Given the description of an element on the screen output the (x, y) to click on. 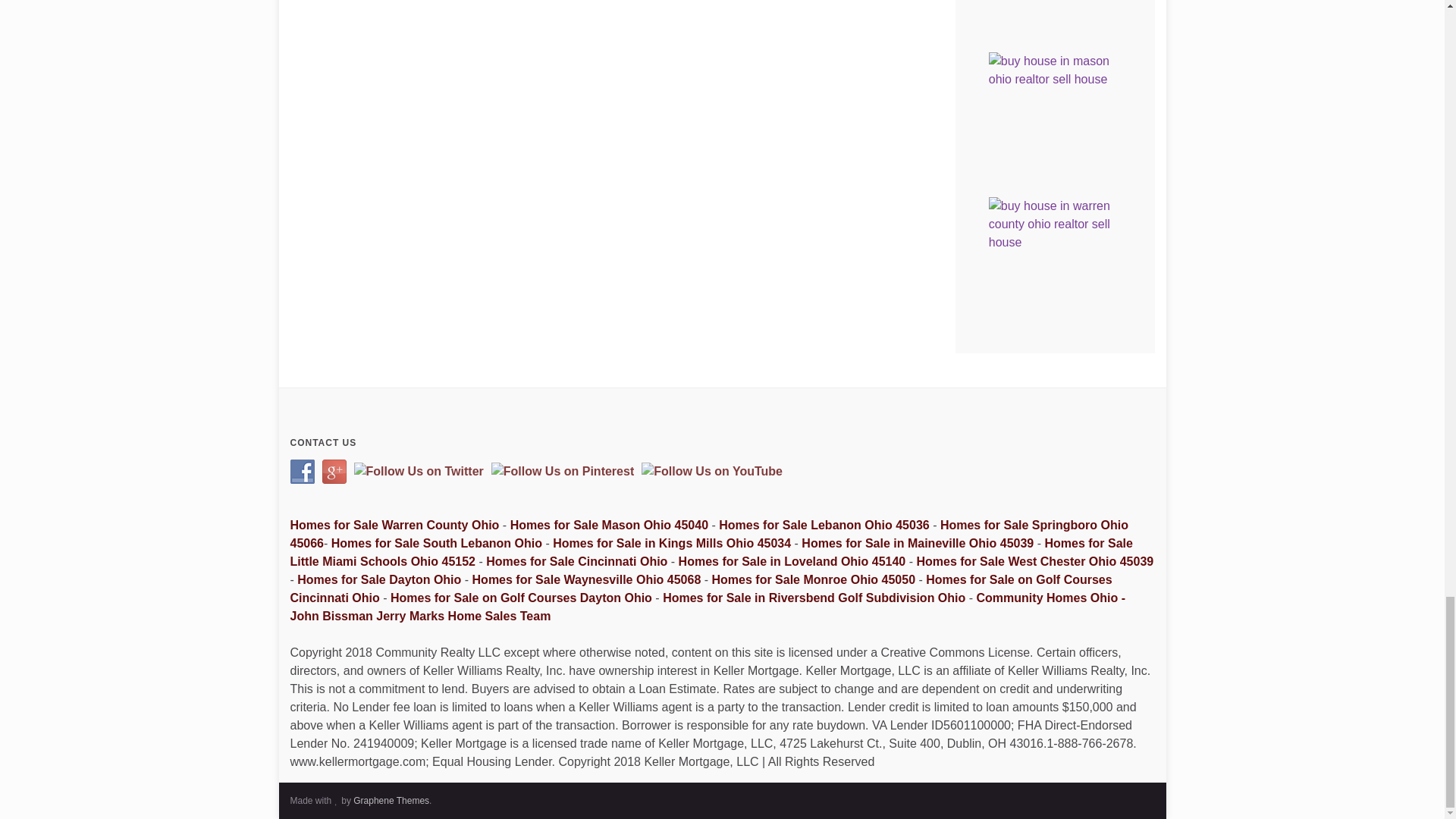
Follow Us on Pinterest (562, 471)
Follow Us on Facebook (301, 471)
Follow Us on Twitter (418, 471)
